Given the description of an element on the screen output the (x, y) to click on. 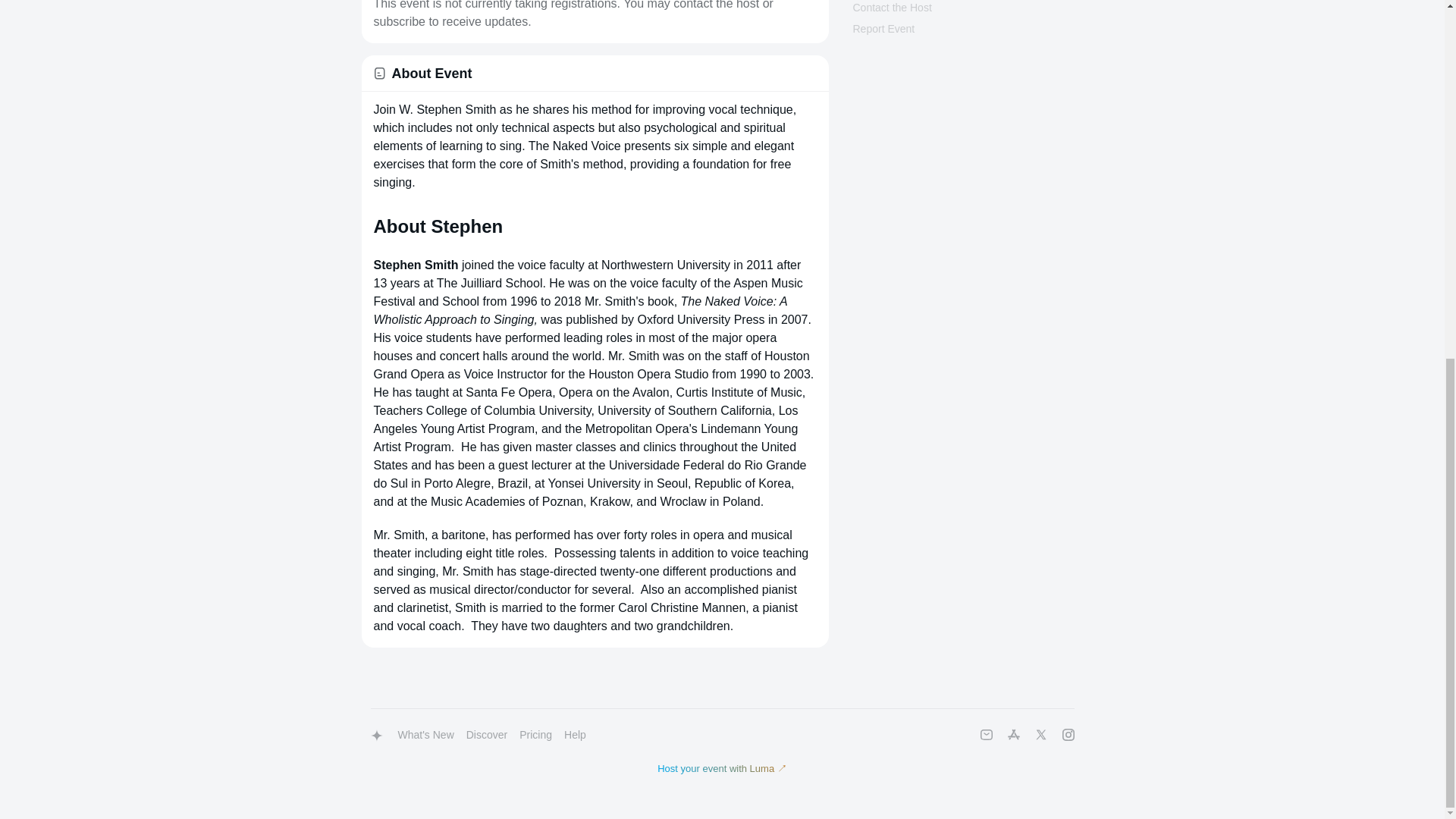
Discover (486, 735)
Report Event (882, 28)
Pricing (535, 735)
Help (574, 735)
What's New (425, 735)
Contact the Host (891, 7)
